Given the description of an element on the screen output the (x, y) to click on. 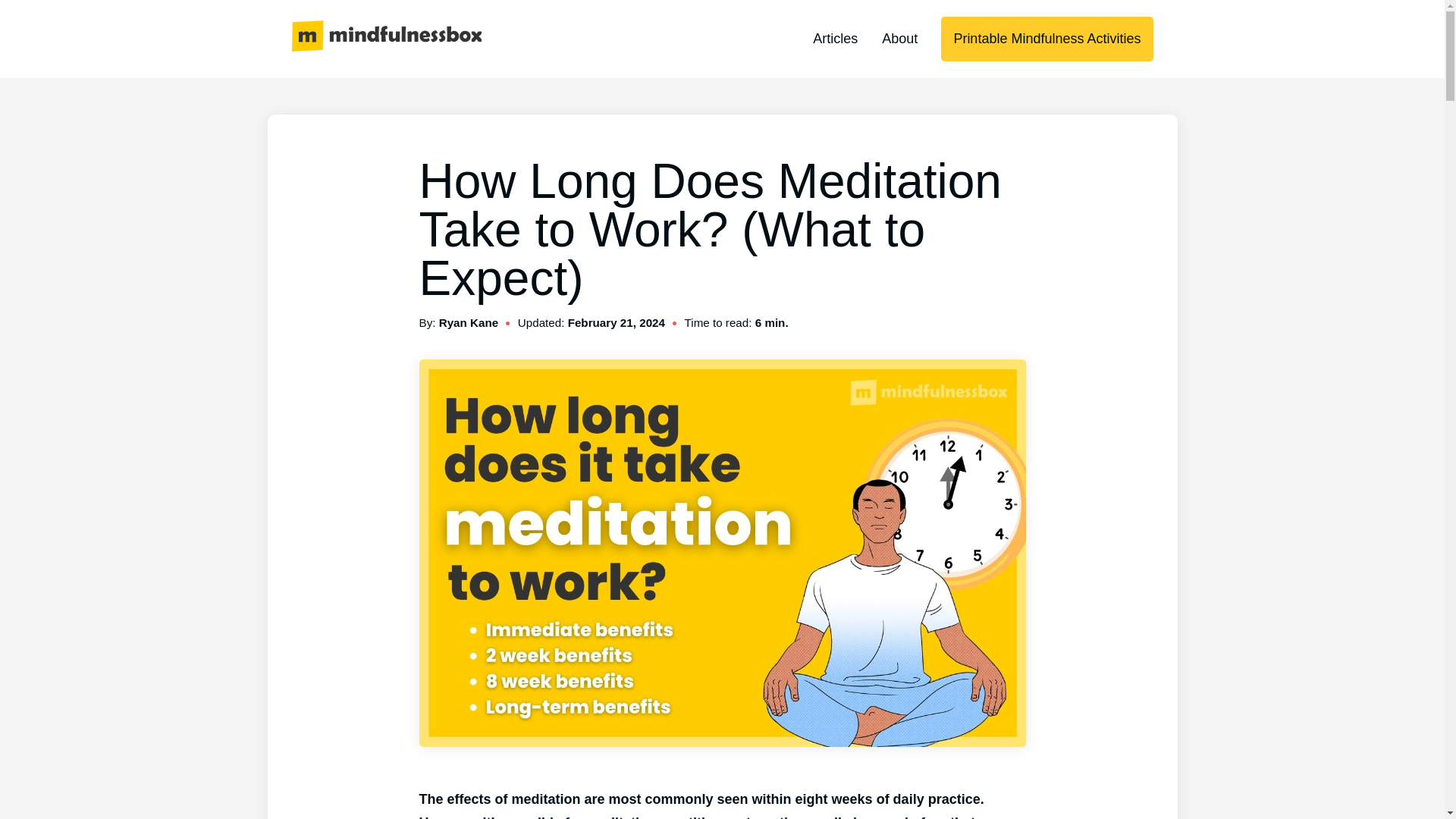
Articles (834, 38)
Printable Mindfulness Activities (1046, 38)
About (899, 38)
